Given the description of an element on the screen output the (x, y) to click on. 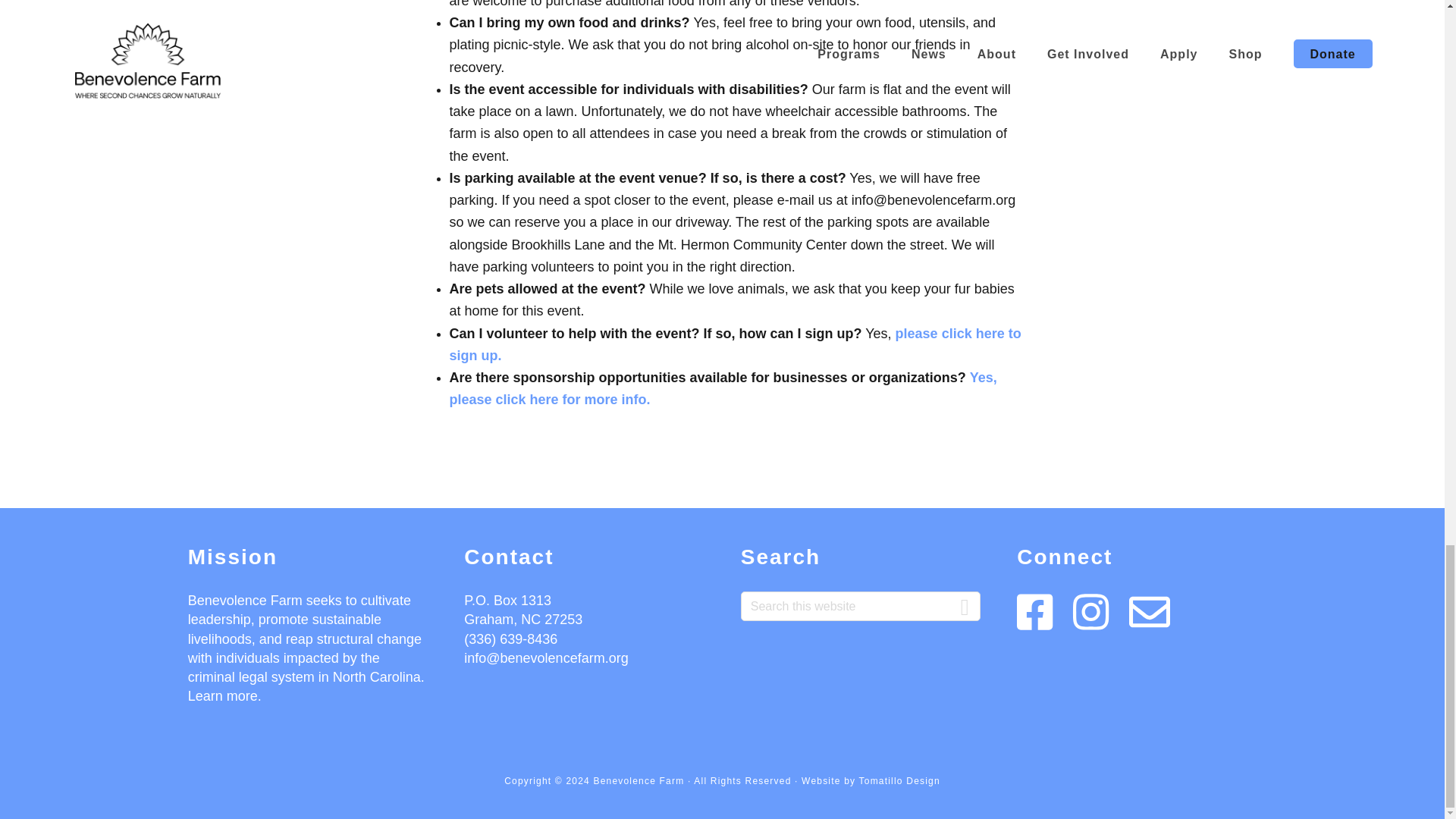
Search (964, 599)
Amazing, Affordable Websites for Nonprofits (899, 780)
Search (964, 599)
